Given the description of an element on the screen output the (x, y) to click on. 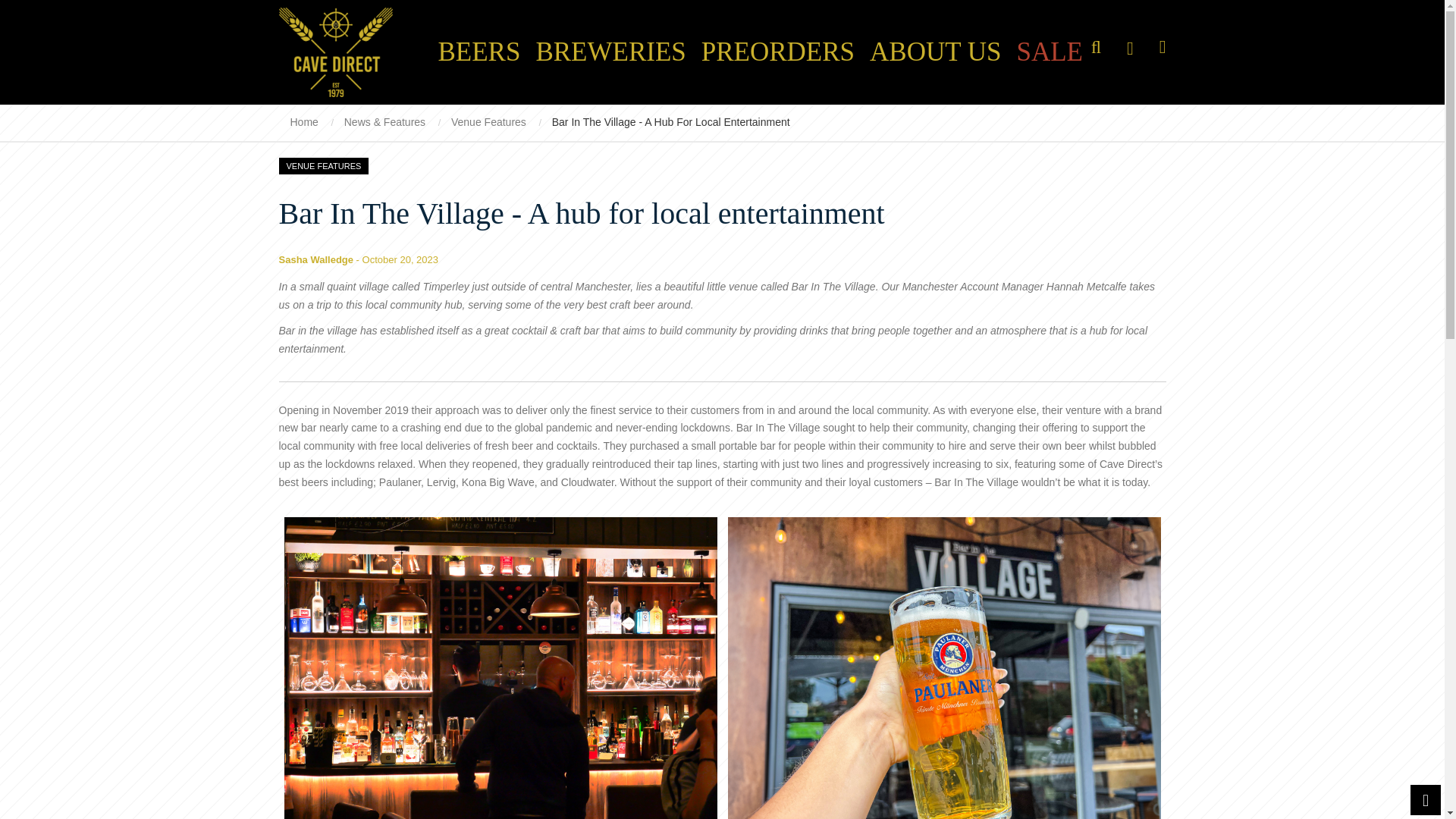
BEERS (479, 52)
Venue Features (488, 121)
Cave Direct (343, 52)
Go to Home Page (308, 121)
Venue Features (324, 166)
ABOUT US (935, 52)
BREWERIES (610, 52)
PREORDERS (777, 52)
Cave Direct (336, 52)
SALE (1049, 52)
